Given the description of an element on the screen output the (x, y) to click on. 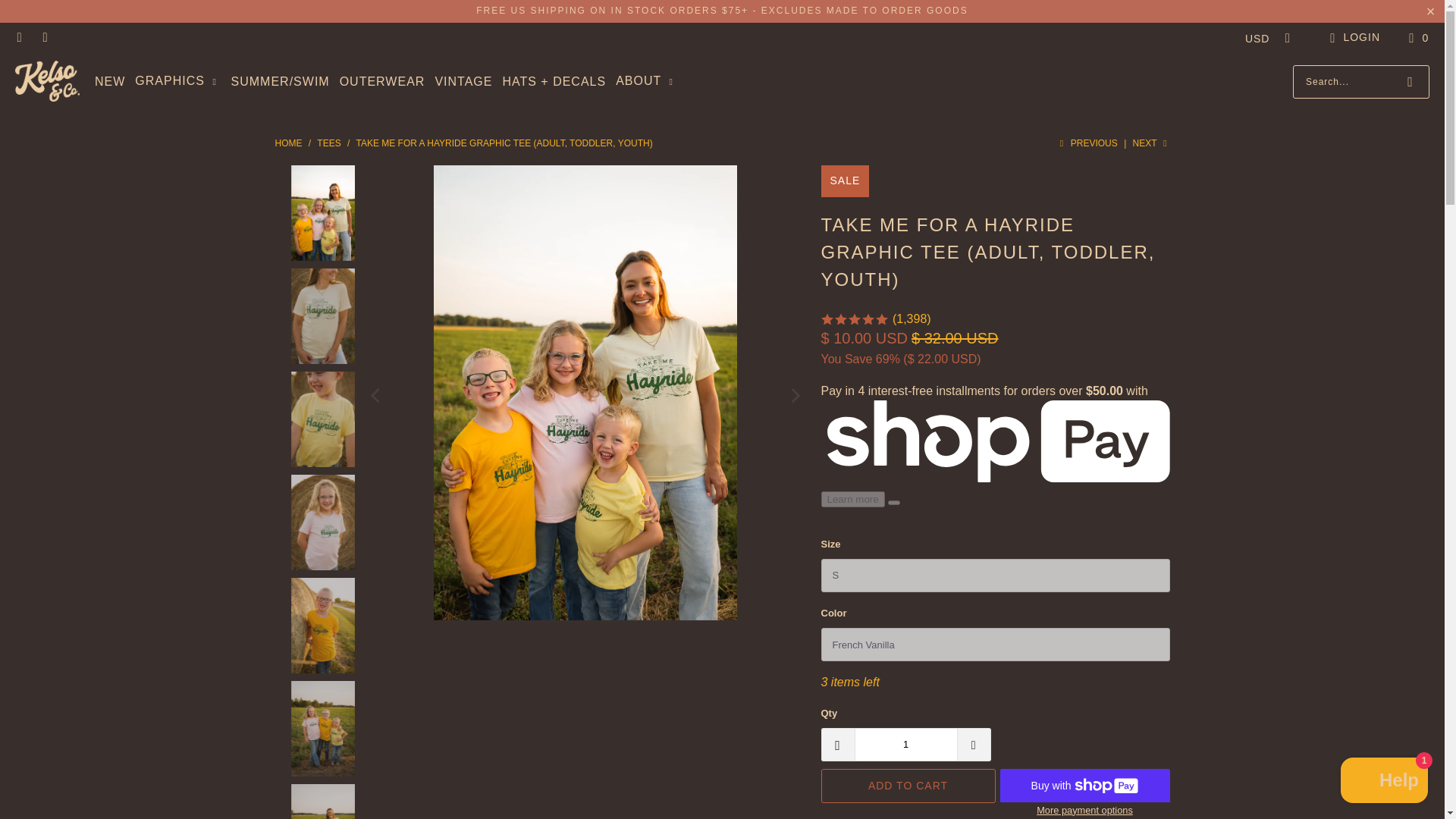
TEES (330, 143)
Next (1151, 143)
Previous (1086, 143)
Shopify online store chat (1384, 781)
1 (904, 744)
My Account  (1352, 37)
